Given the description of an element on the screen output the (x, y) to click on. 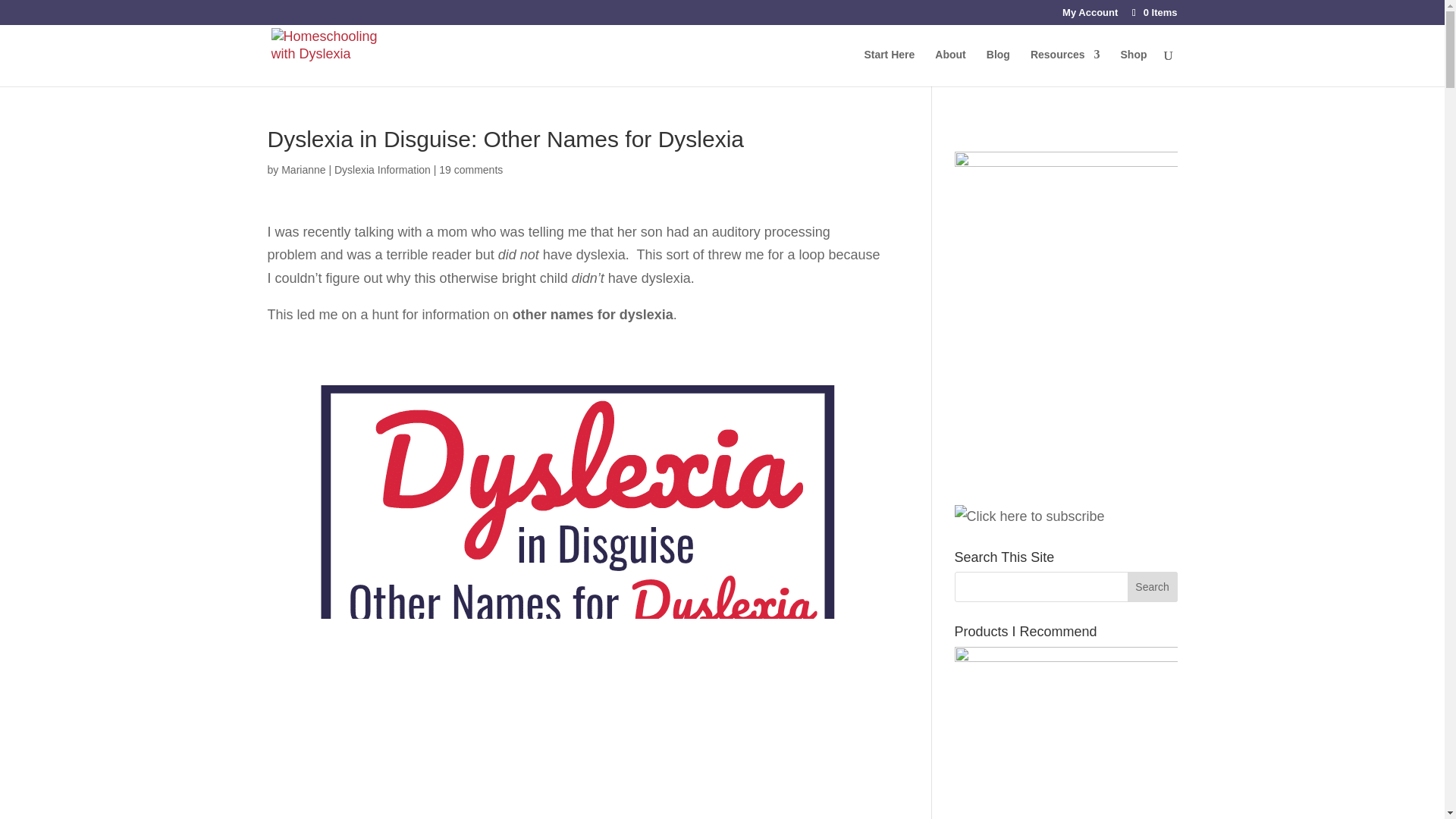
Posts by Marianne (302, 169)
Marianne (302, 169)
Resources (1065, 67)
Start Here (888, 67)
Search (1151, 586)
0 Items (1152, 12)
Dyslexia Information (382, 169)
My Account (1090, 16)
19 comments (470, 169)
